Given the description of an element on the screen output the (x, y) to click on. 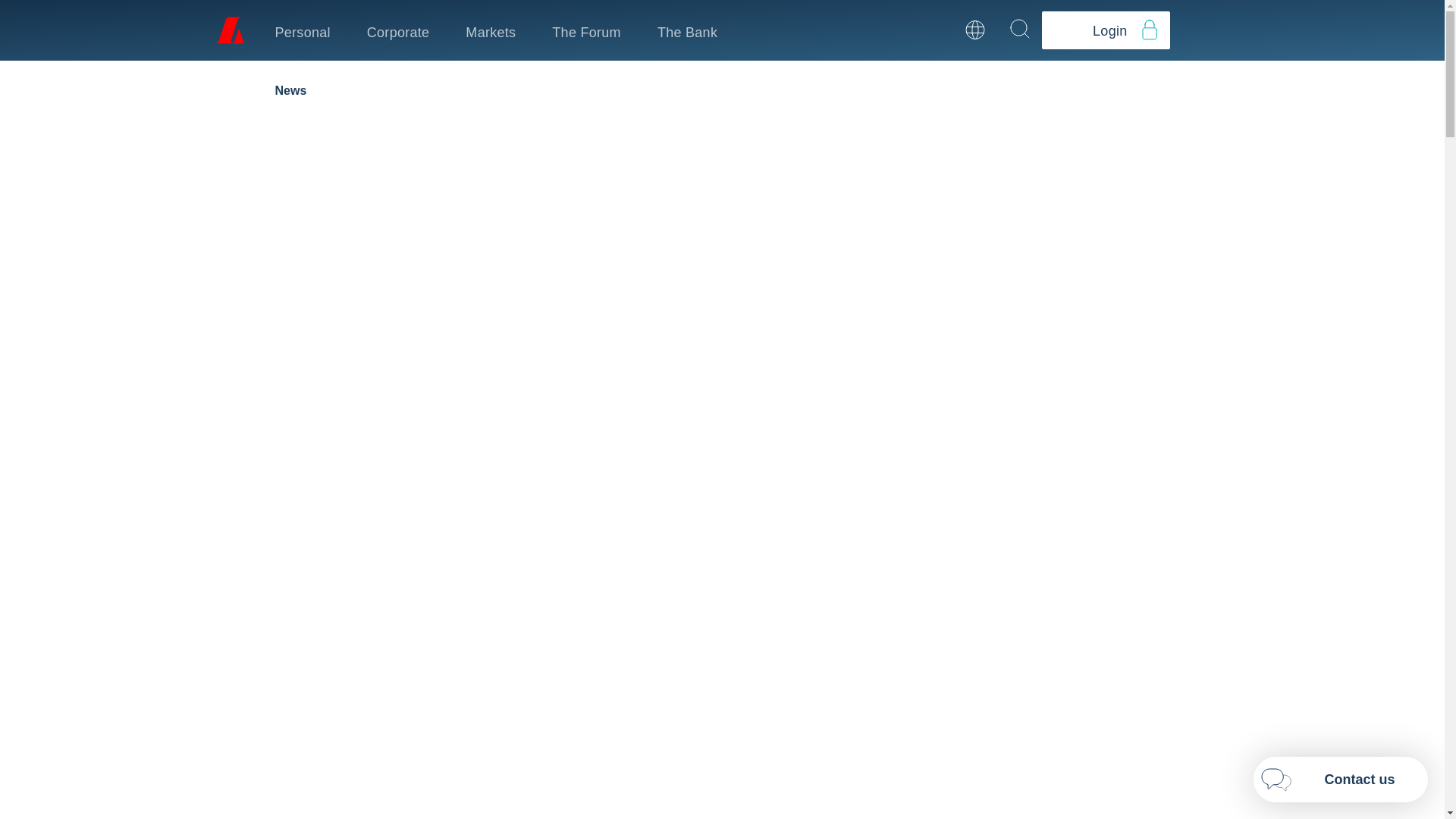
Corporate (397, 30)
The Bank (687, 30)
Personal (302, 30)
The Bank (687, 30)
The Forum (586, 30)
The Forum (586, 30)
Corporate (397, 30)
Landsbankinn.is (228, 30)
Login (1106, 30)
News (290, 90)
